Given the description of an element on the screen output the (x, y) to click on. 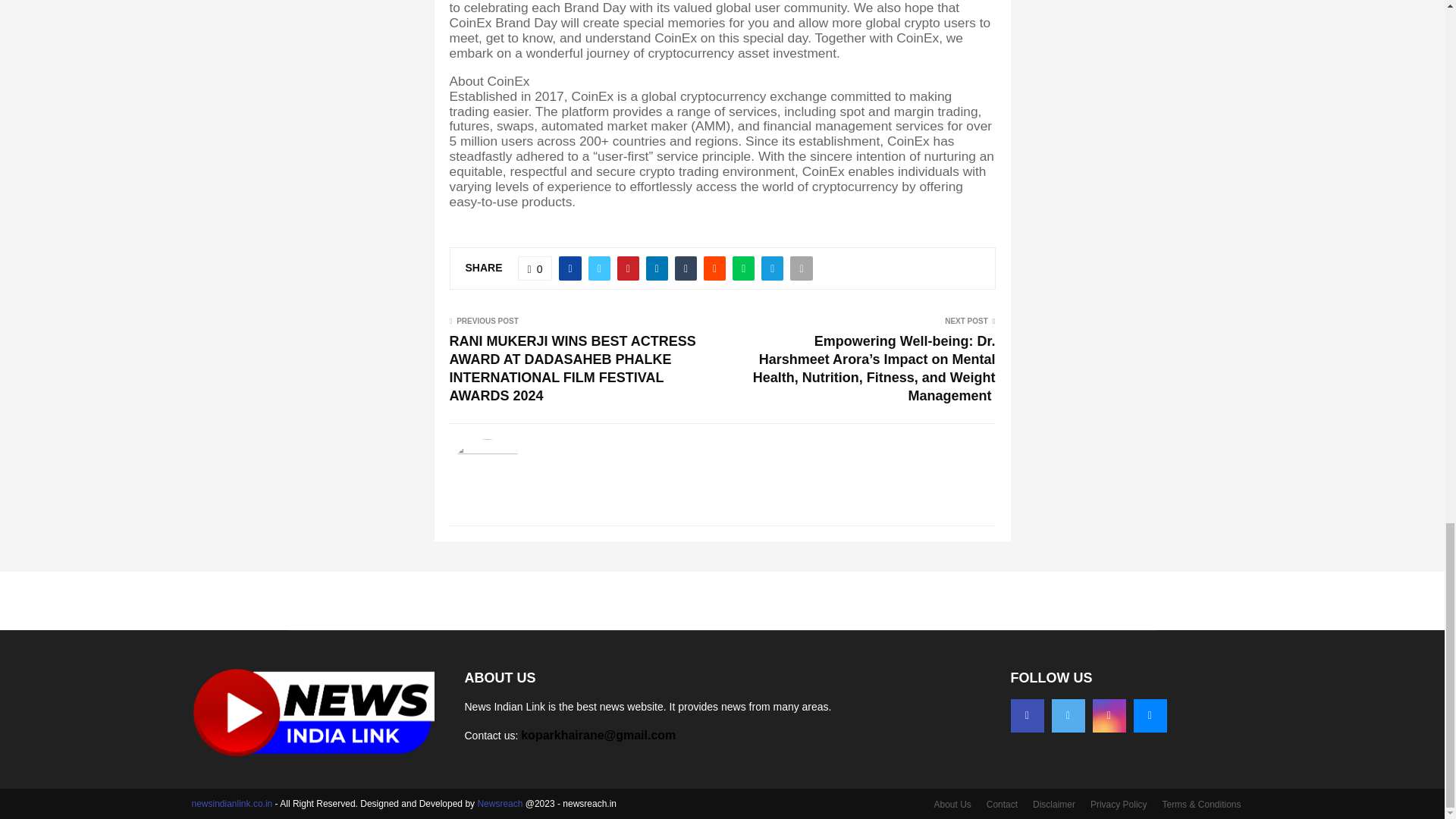
0 (535, 268)
Like (535, 268)
Facebook (1026, 715)
